Given the description of an element on the screen output the (x, y) to click on. 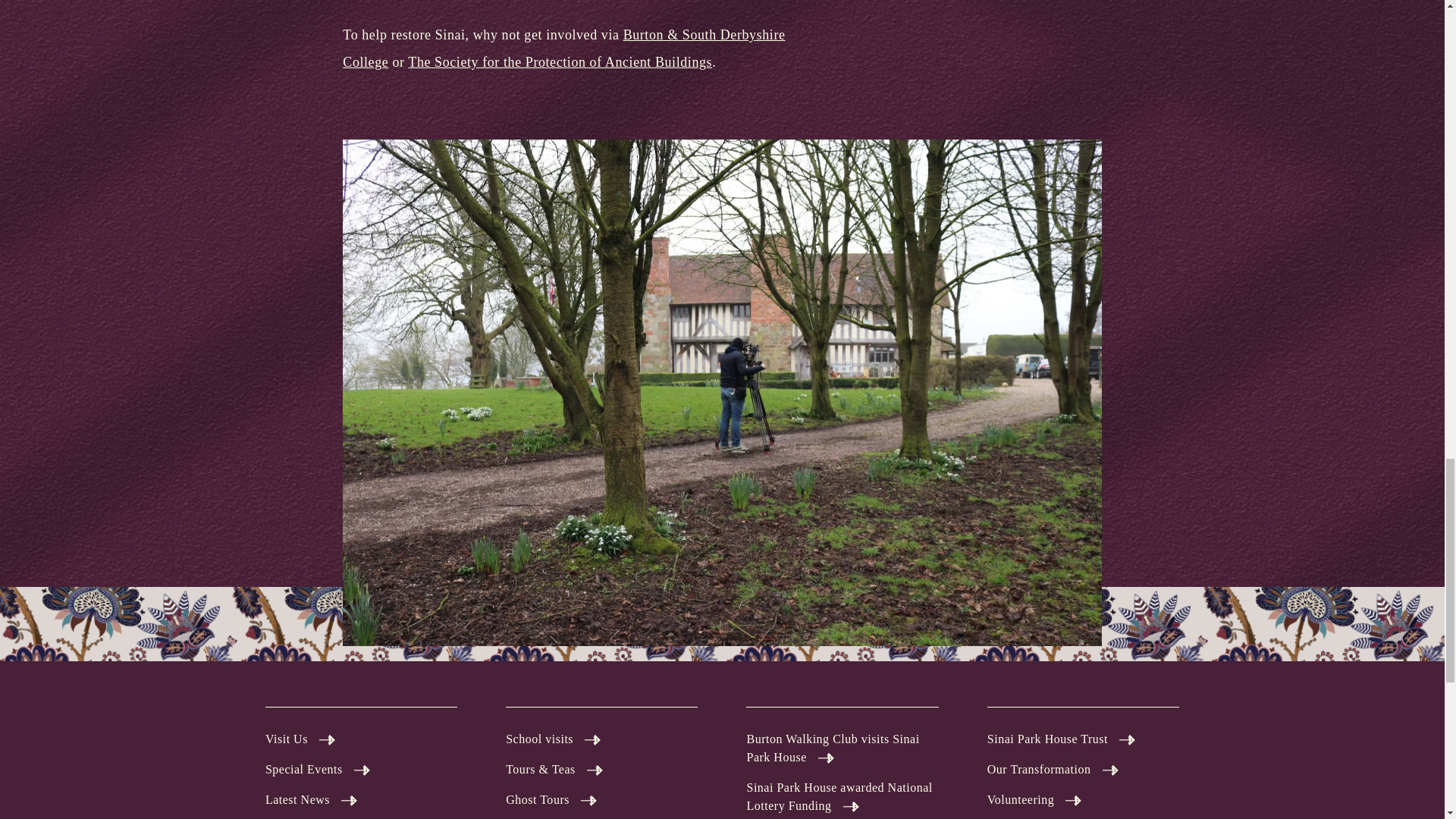
Visit Us (360, 739)
The Society for the Protection of Ancient Buildings (559, 61)
Latest News (360, 800)
Special Events (360, 769)
